Given the description of an element on the screen output the (x, y) to click on. 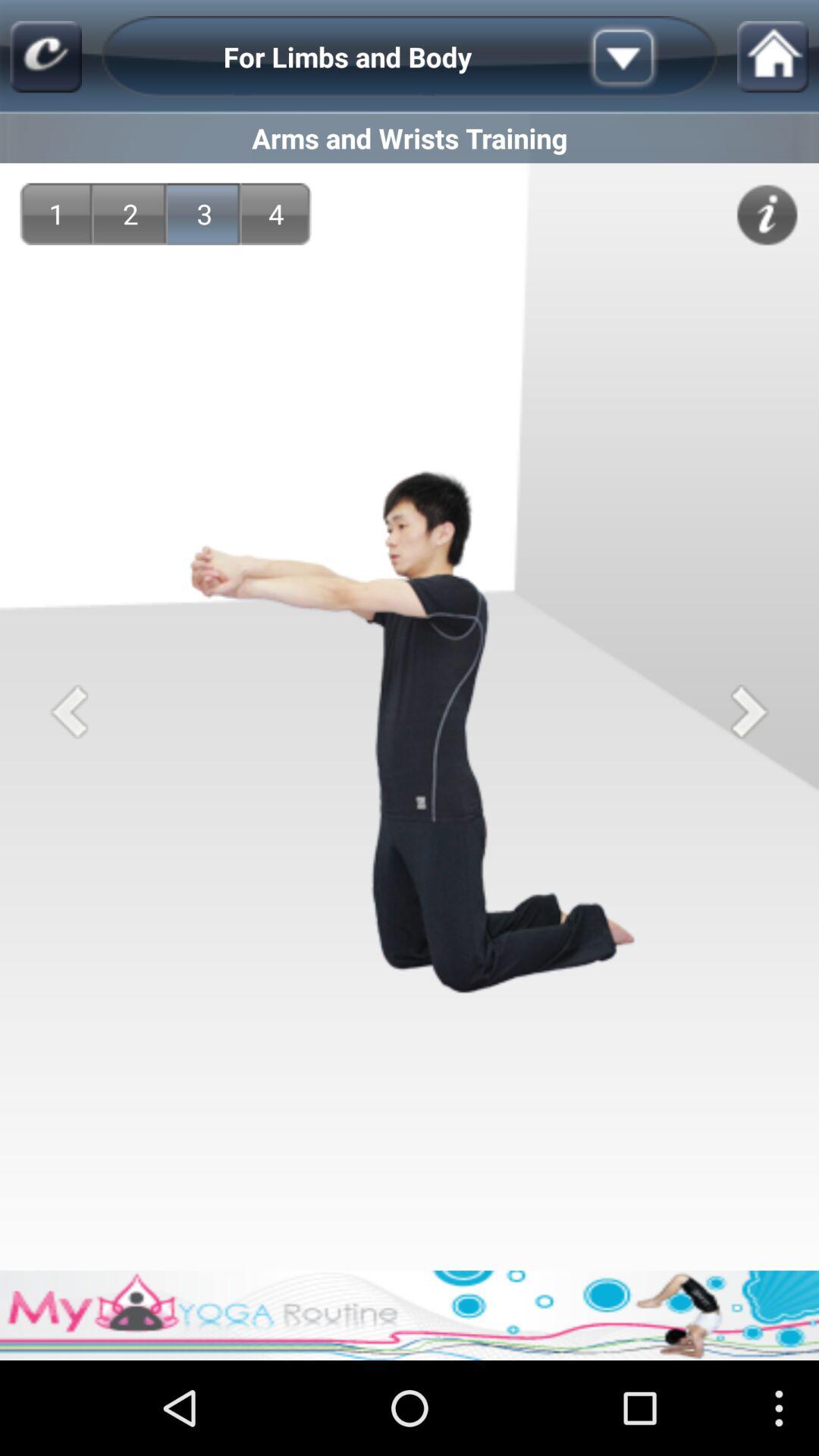
choose the icon on the right (749, 711)
